Given the description of an element on the screen output the (x, y) to click on. 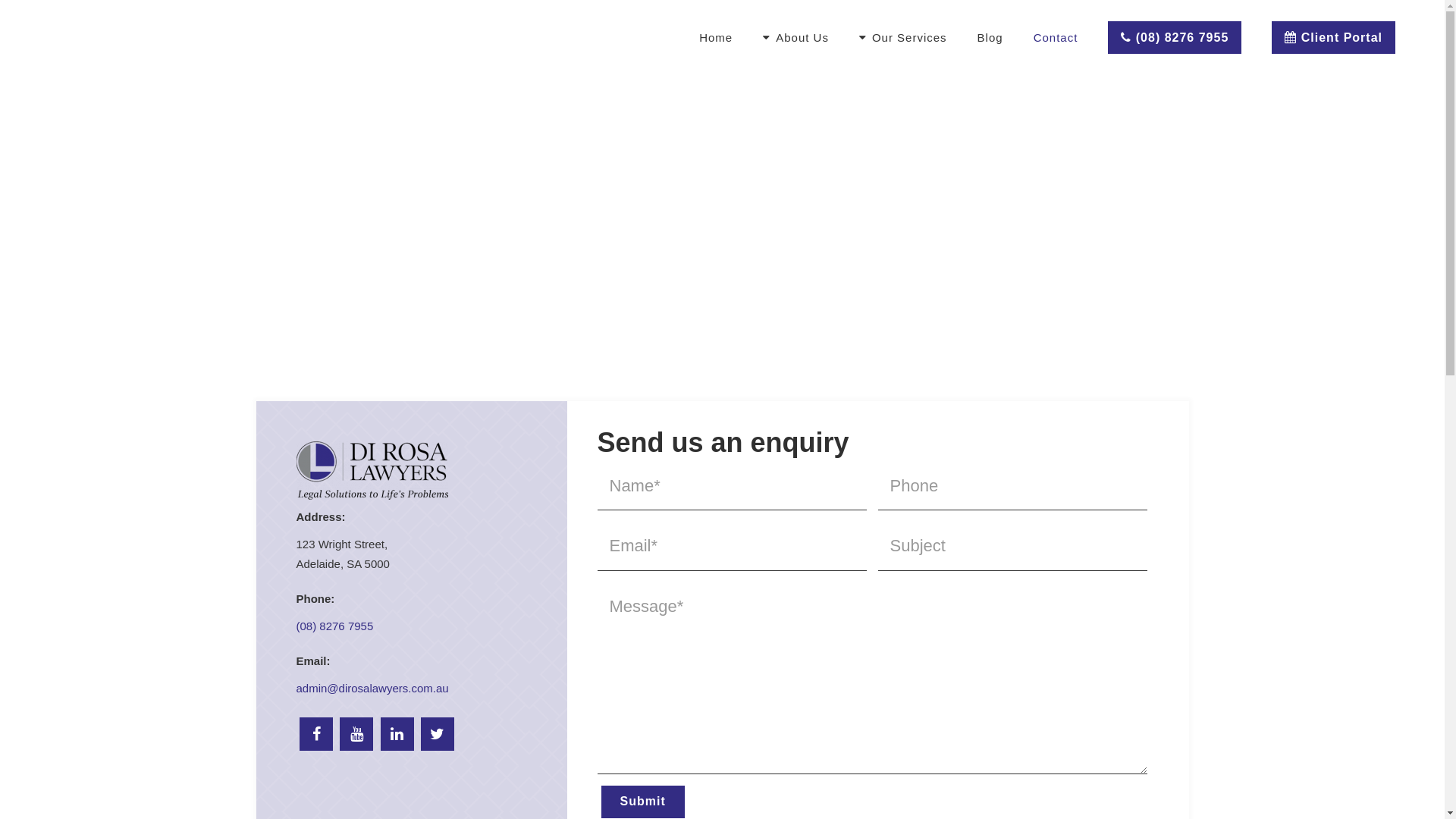
Client Portal Element type: text (1333, 37)
Home Element type: text (715, 37)
Contact Element type: text (1055, 37)
Submit Element type: text (642, 801)
Blog Element type: text (990, 37)
About Us Element type: text (795, 37)
(08) 8276 7955 Element type: text (1174, 37)
Client Portal Element type: text (1333, 37)
Our Services Element type: text (903, 37)
admin@dirosalawyers.com.au Element type: text (371, 687)
(08) 8276 7955 Element type: text (1174, 37)
(08) 8276 7955 Element type: text (334, 625)
